Given the description of an element on the screen output the (x, y) to click on. 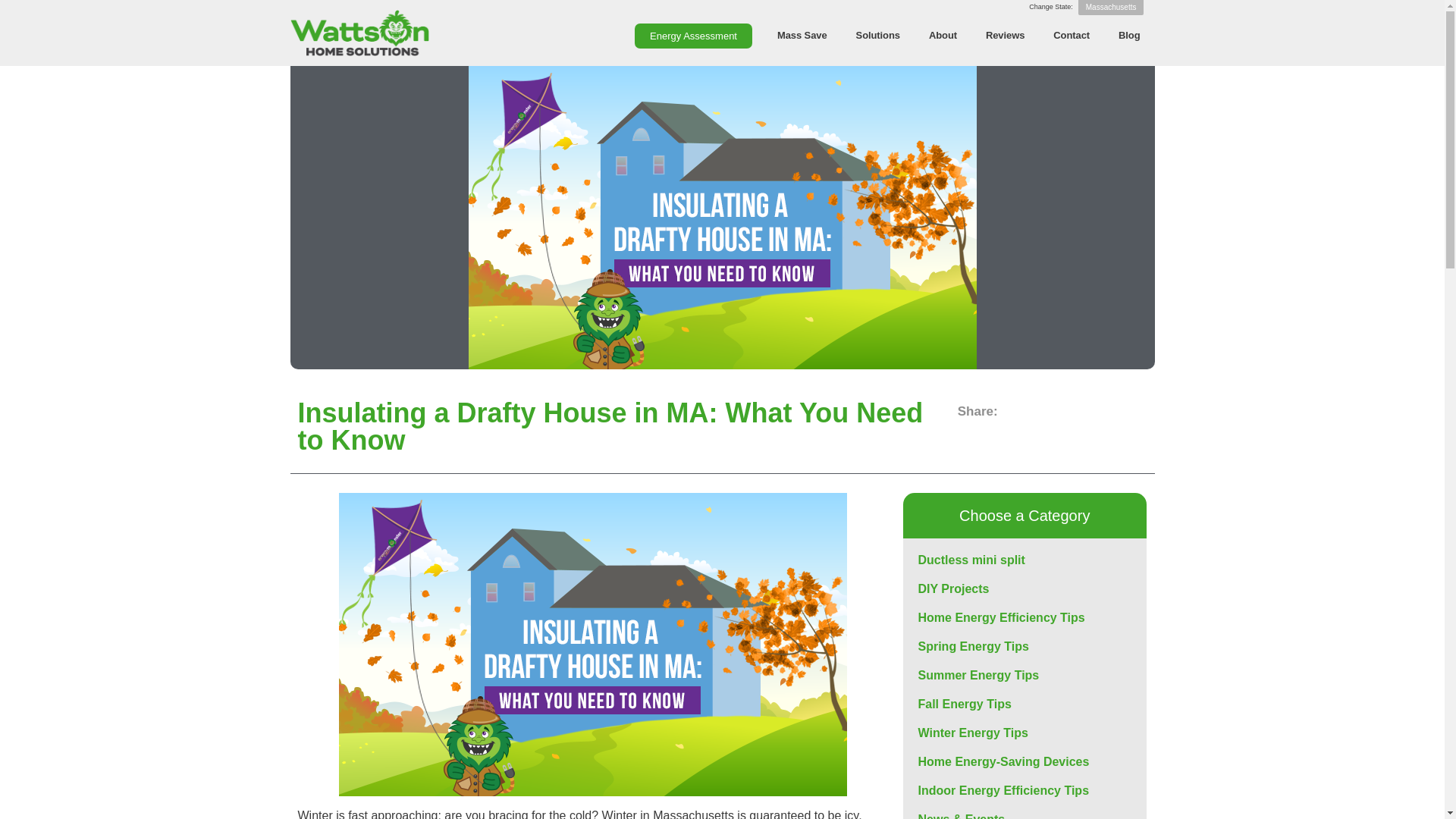
Solutions (877, 35)
Massachusetts (1111, 7)
Contact (1071, 35)
Reviews (1005, 35)
About (942, 35)
Mass Save (801, 35)
Energy Assessment (693, 35)
